Given the description of an element on the screen output the (x, y) to click on. 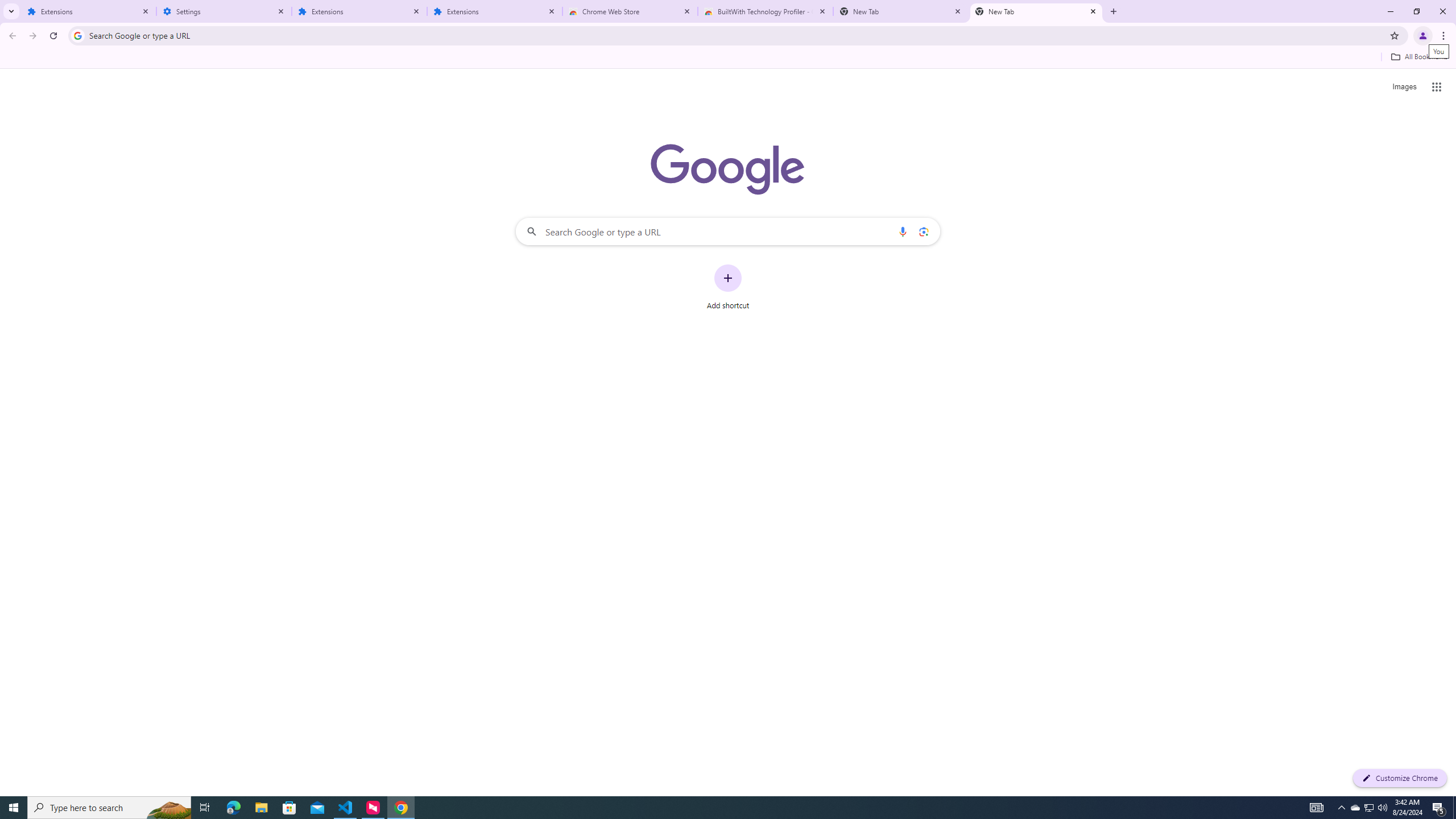
BuiltWith Technology Profiler - Chrome Web Store (765, 11)
Extensions (359, 11)
